Given the description of an element on the screen output the (x, y) to click on. 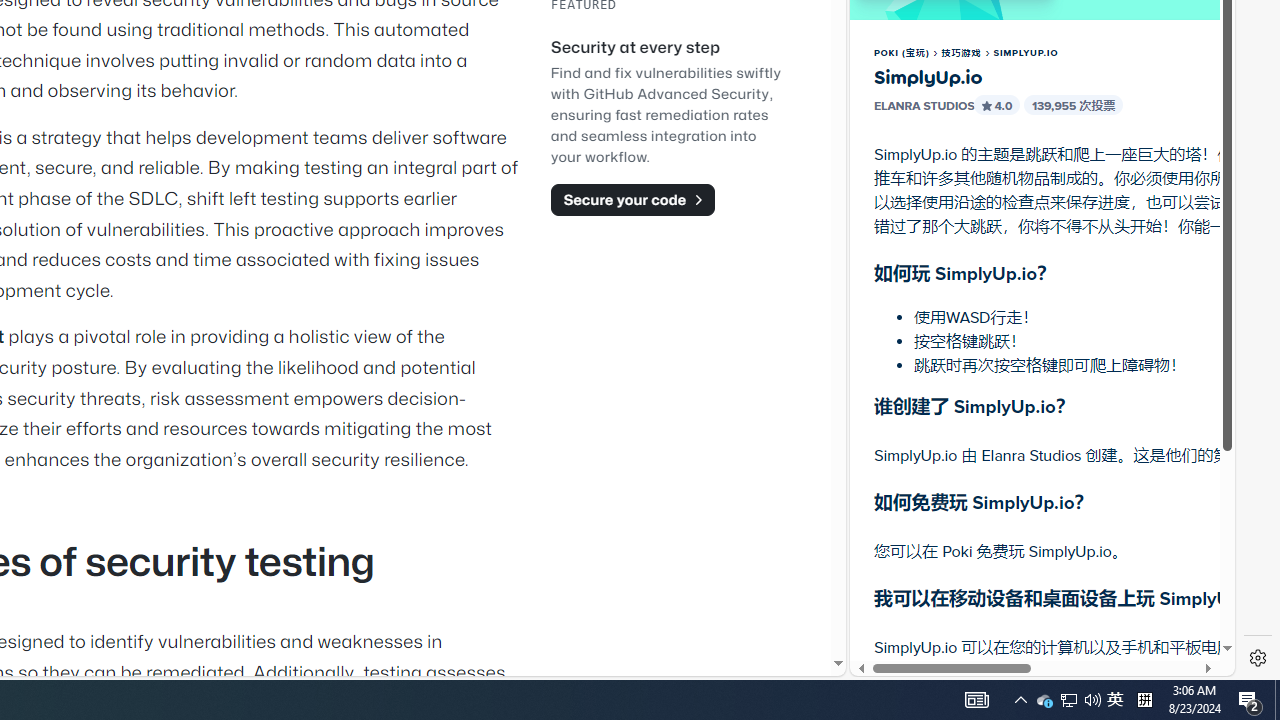
Hills of Steel (943, 300)
Hills of Steel (943, 200)
Class: fcfViJboVjIxhb1F278U (987, 105)
Combat Reloaded (1092, 300)
Hills of Steel (925, 290)
Crazy Cars (1217, 290)
SIMPLYUP.IO (1025, 53)
poki.com (1092, 338)
SUBWAY SURFERS - Play Online for Free! | Poki (1034, 624)
Combat Reloaded (1090, 290)
